Given the description of an element on the screen output the (x, y) to click on. 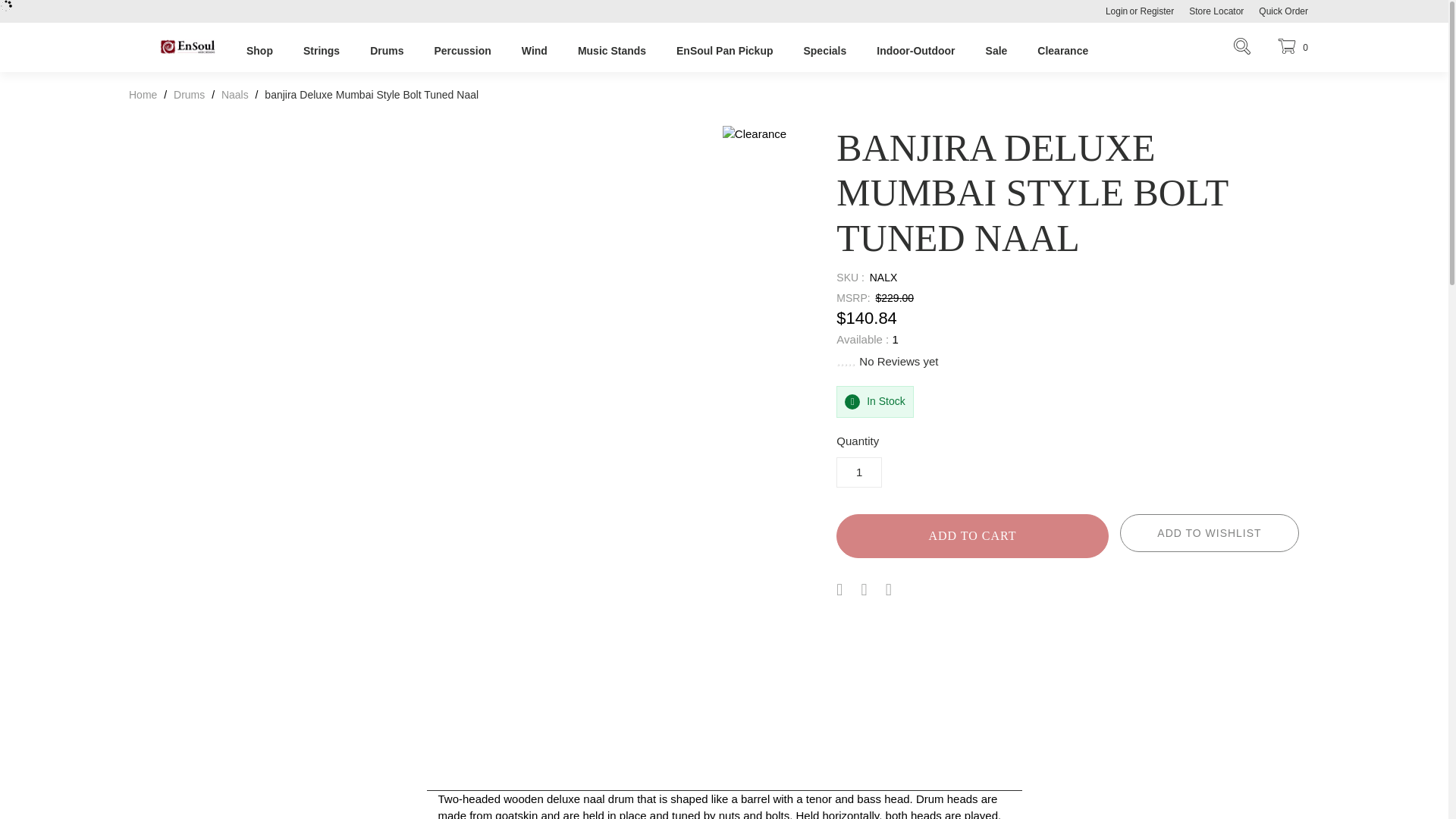
EnSoul Music Designs (187, 54)
Store Locator (1215, 11)
Login (1112, 11)
Store Locator (1215, 11)
Register (1161, 11)
1 (858, 472)
Cart (1291, 47)
Quick Order (1283, 11)
Quick Order (1283, 11)
